Given the description of an element on the screen output the (x, y) to click on. 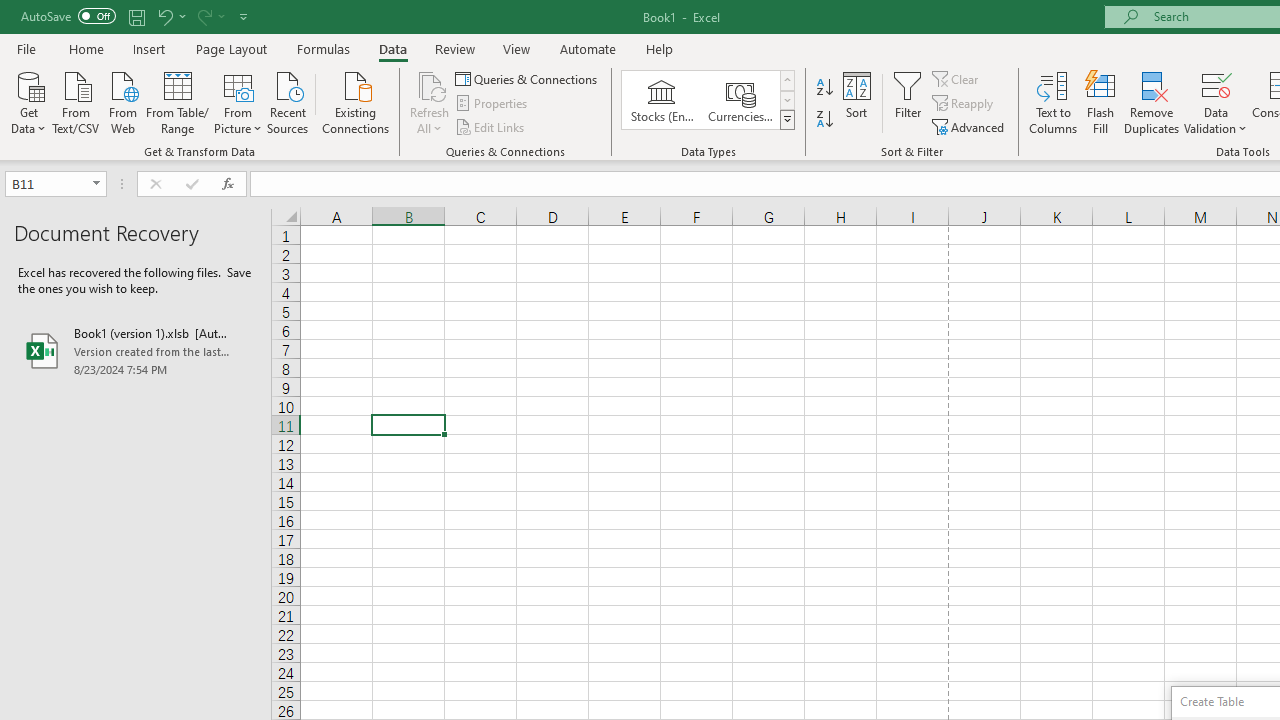
Stocks (English) (662, 100)
Remove Duplicates (1151, 102)
Name Box (46, 183)
Row up (786, 79)
Data Types (786, 120)
Advanced... (970, 126)
Class: NetUIImage (787, 119)
Quick Access Toolbar (136, 16)
Refresh All (429, 102)
Clear (957, 78)
Text to Columns... (1053, 102)
AutoSave (68, 16)
Recent Sources (287, 101)
Help (660, 48)
